Given the description of an element on the screen output the (x, y) to click on. 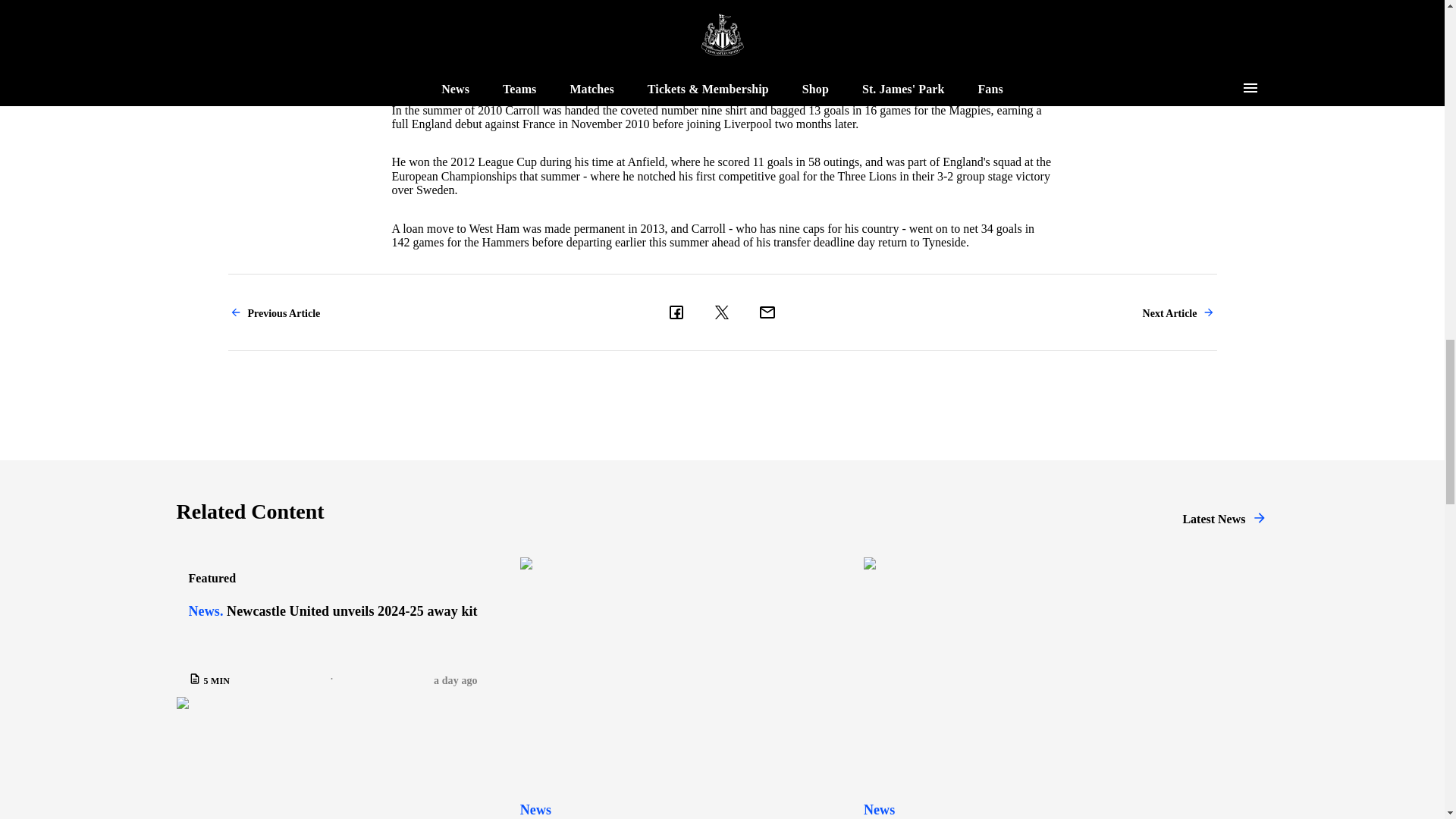
News (535, 808)
Next Article (1179, 312)
News (879, 808)
whats-app (767, 312)
Previous Article (274, 312)
Metro to run full service on Saturday (1019, 688)
Next Article (1179, 312)
x (721, 312)
Latest News (1224, 517)
Latest News (1224, 517)
